Given the description of an element on the screen output the (x, y) to click on. 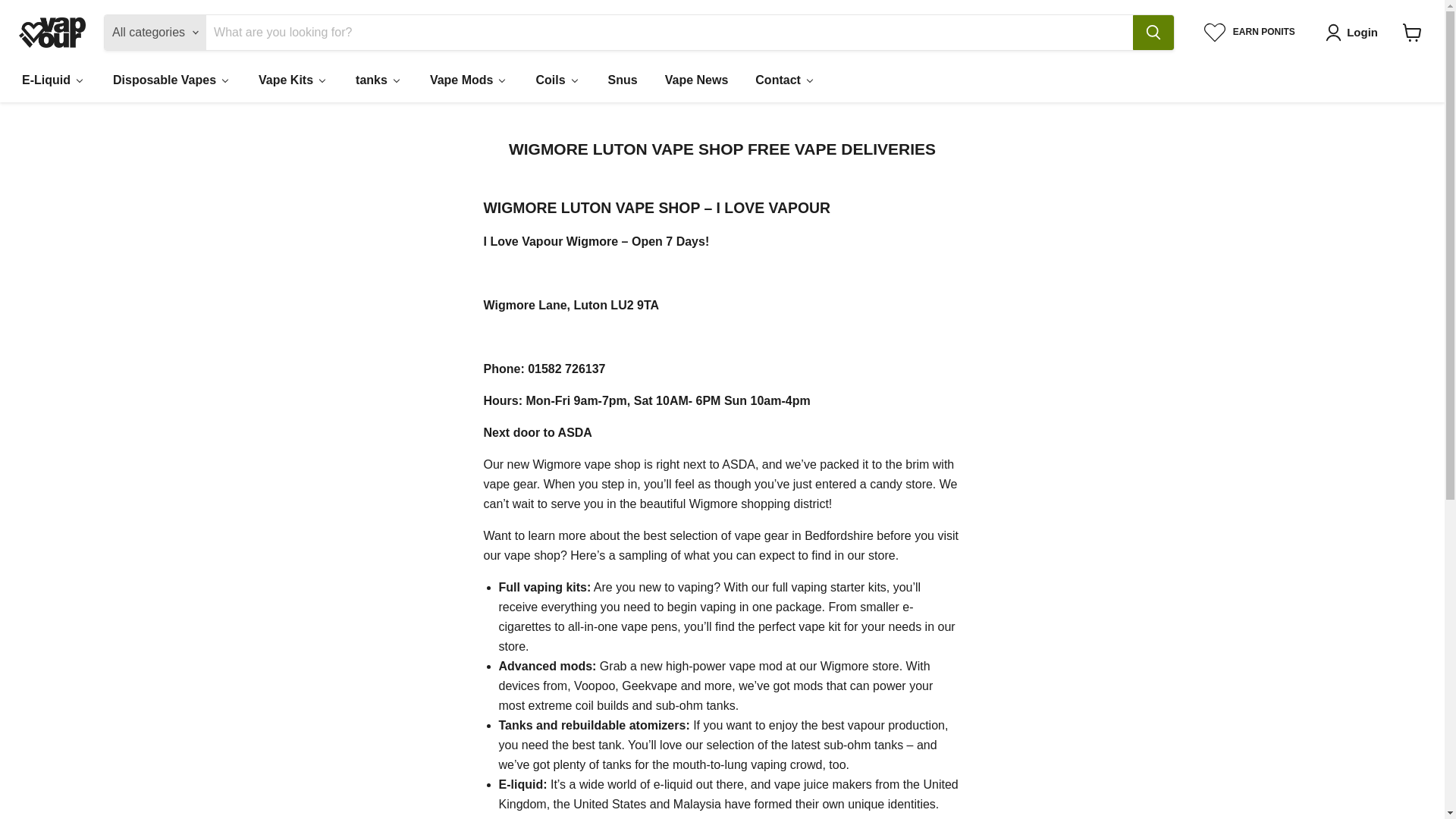
E-Liquid (53, 79)
EARN PONITS (1249, 32)
Login (1354, 32)
View cart (1411, 32)
